Given the description of an element on the screen output the (x, y) to click on. 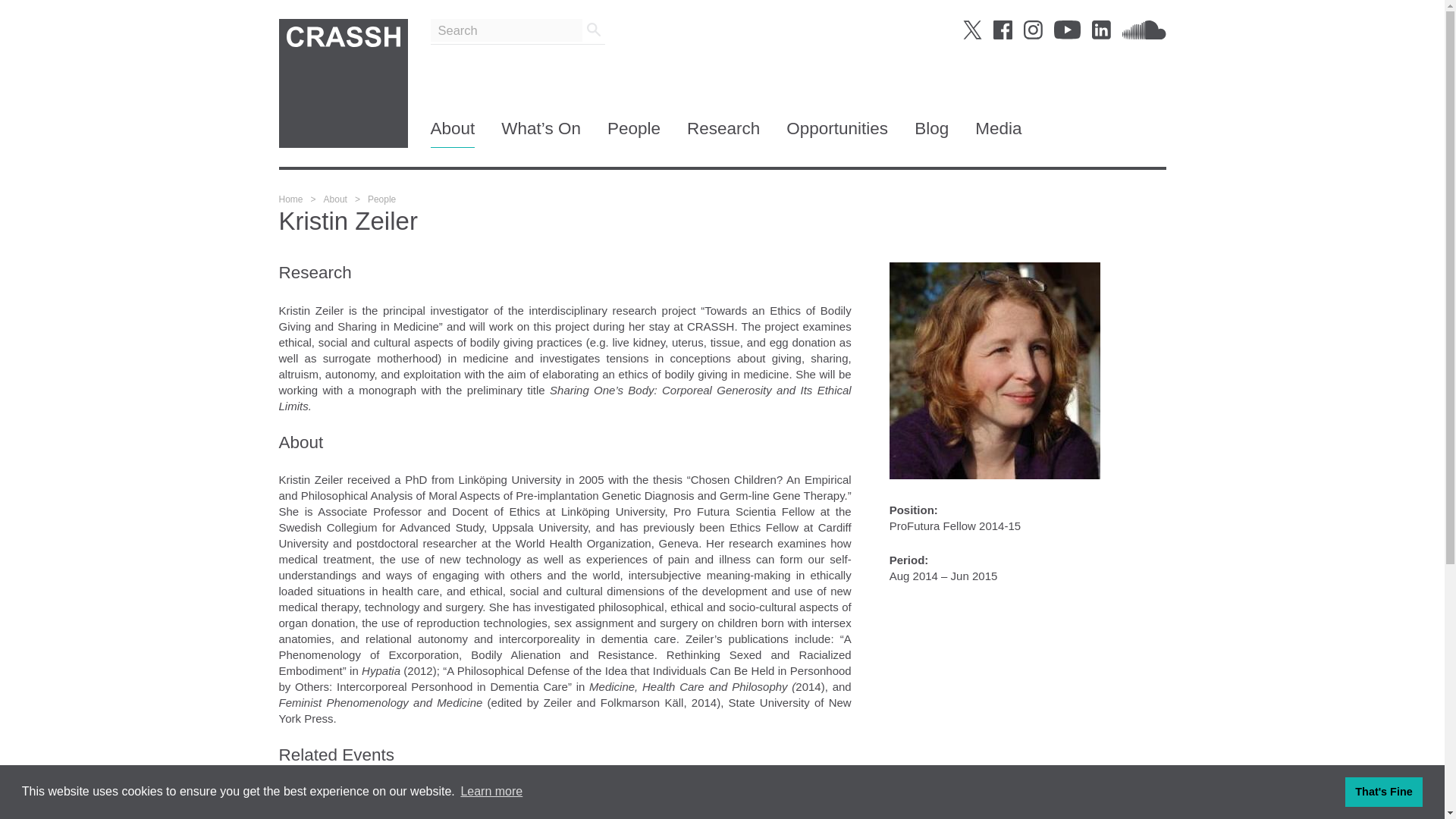
Learn more (491, 791)
People (634, 132)
Blog (931, 132)
People (382, 199)
Media (998, 132)
Towards an Ethics of Bodily Giving and Sharing in Medicine (434, 791)
That's Fine (1383, 791)
About (335, 199)
Research (723, 132)
Opportunities (837, 132)
Home (290, 199)
About (453, 132)
